Given the description of an element on the screen output the (x, y) to click on. 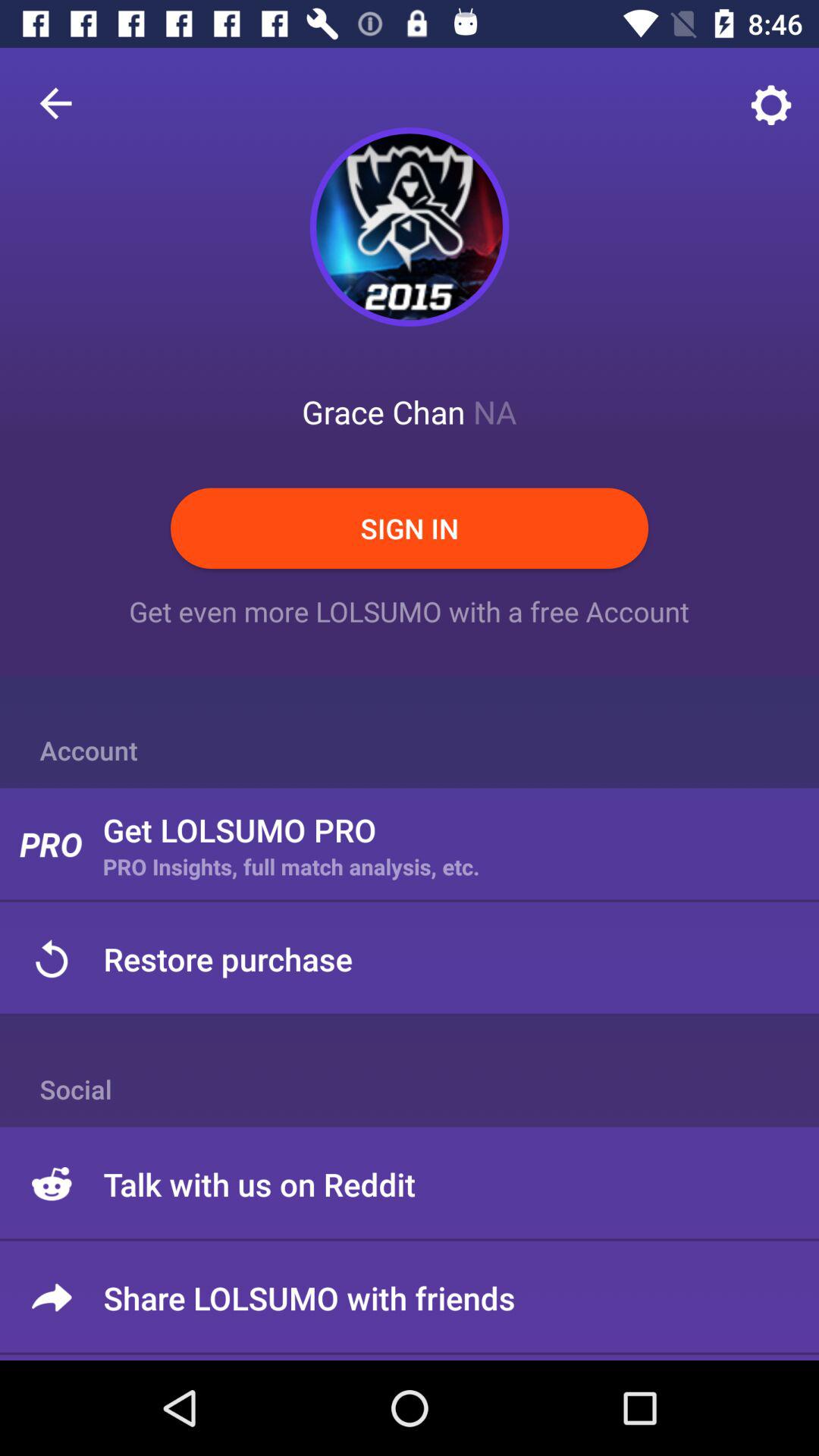
swipe to sign in (409, 527)
